Given the description of an element on the screen output the (x, y) to click on. 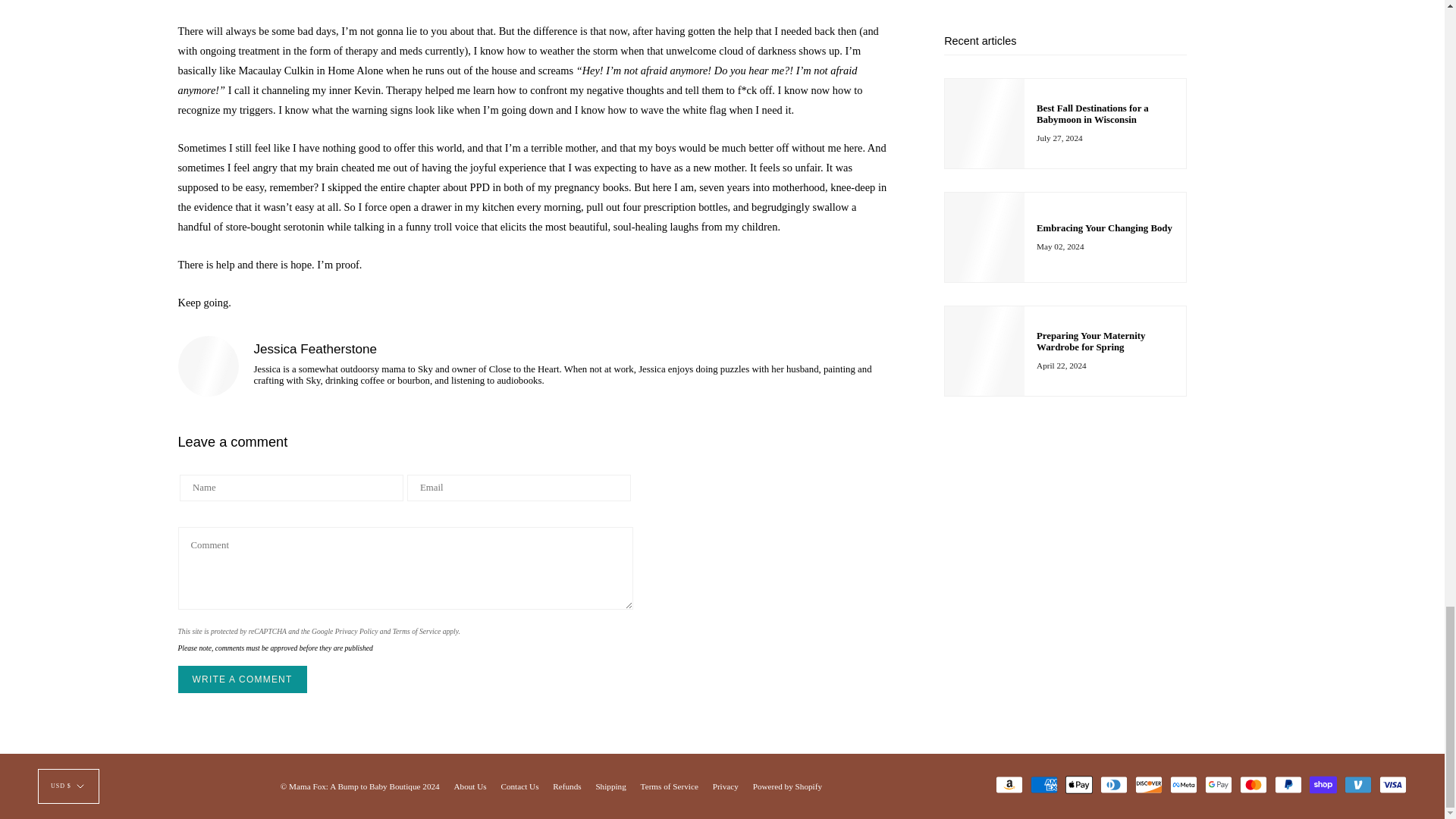
Diners Club (1113, 784)
Shop Pay (1322, 784)
Google Pay (1218, 784)
Write a comment (241, 678)
American Express (1044, 784)
Mastercard (1253, 784)
Amazon (1009, 784)
Meta Pay (1183, 784)
Discover (1148, 784)
Apple Pay (1079, 784)
